Given the description of an element on the screen output the (x, y) to click on. 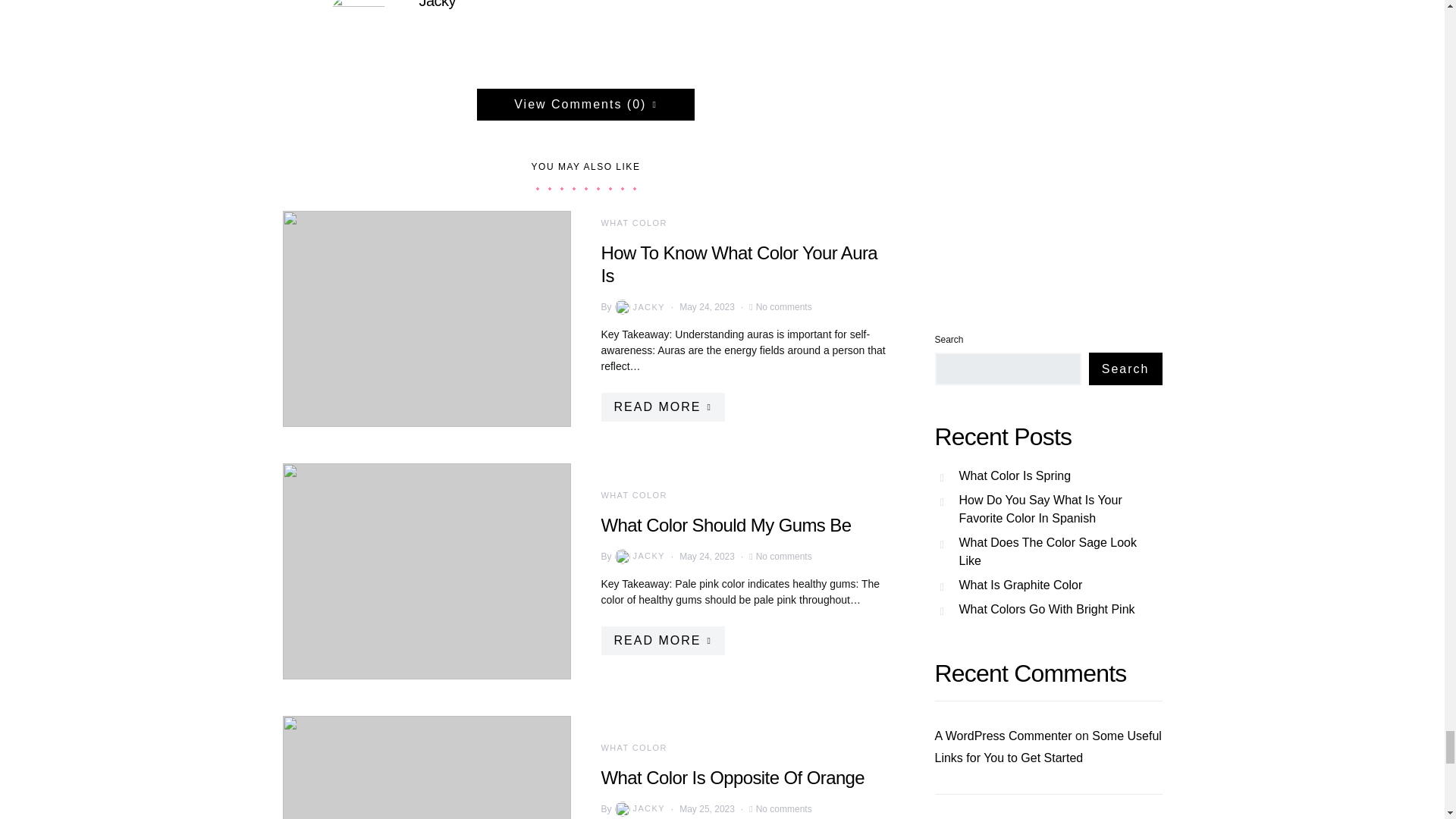
JACKY (638, 807)
READ MORE (661, 640)
View all posts by Jacky (638, 306)
No comments (783, 555)
JACKY (638, 556)
WHAT COLOR (632, 222)
View all posts by Jacky (638, 556)
WHAT COLOR (632, 493)
Jacky (437, 4)
WHAT COLOR (632, 747)
